Given the description of an element on the screen output the (x, y) to click on. 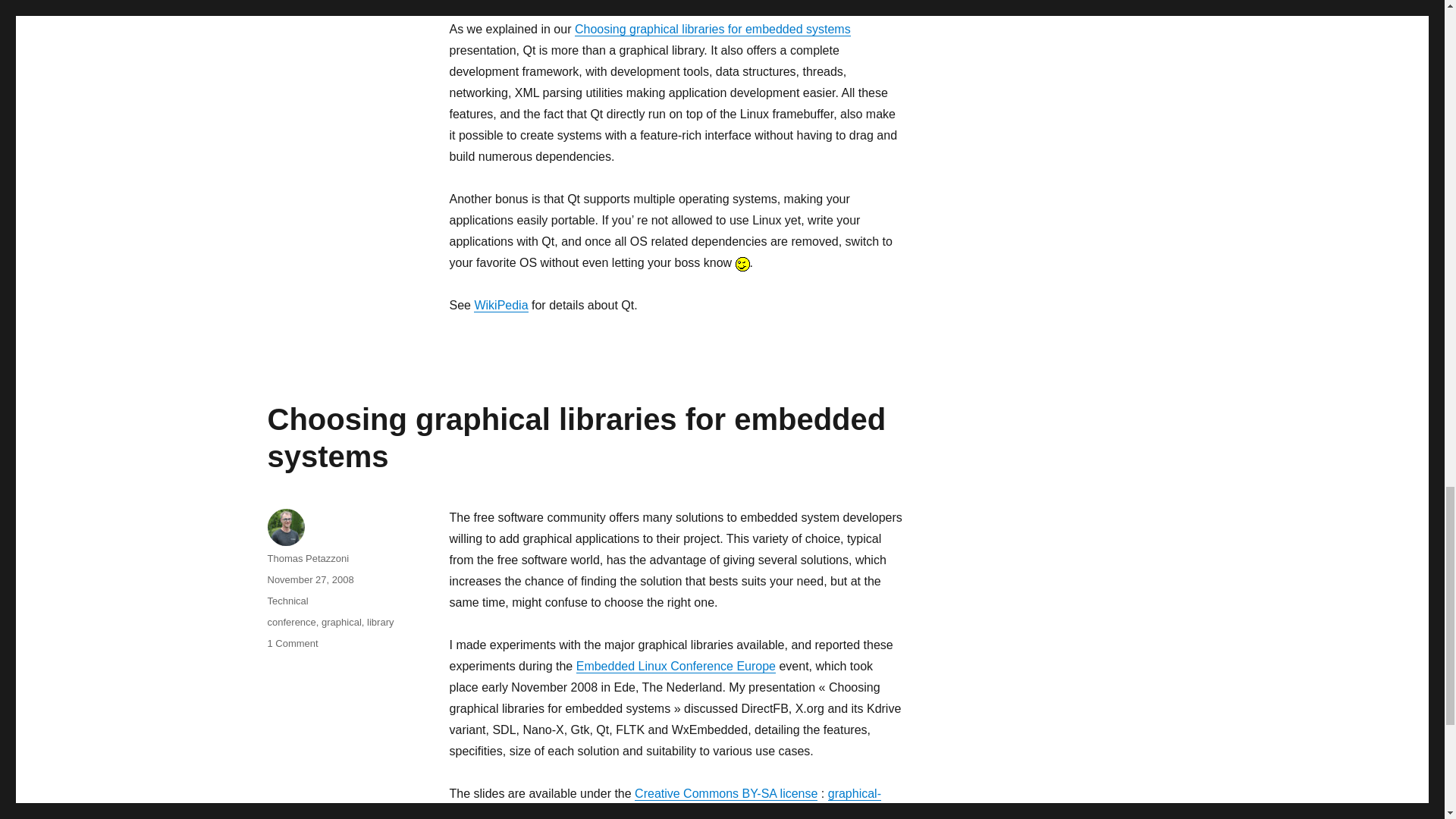
Embedded Linux Conference Europe (676, 666)
Choosing graphical libraries for embedded systems (712, 29)
WikiPedia (500, 305)
Creative Commons BY-SA license (725, 793)
Choosing graphical libraries for embedded systems (575, 437)
